Given the description of an element on the screen output the (x, y) to click on. 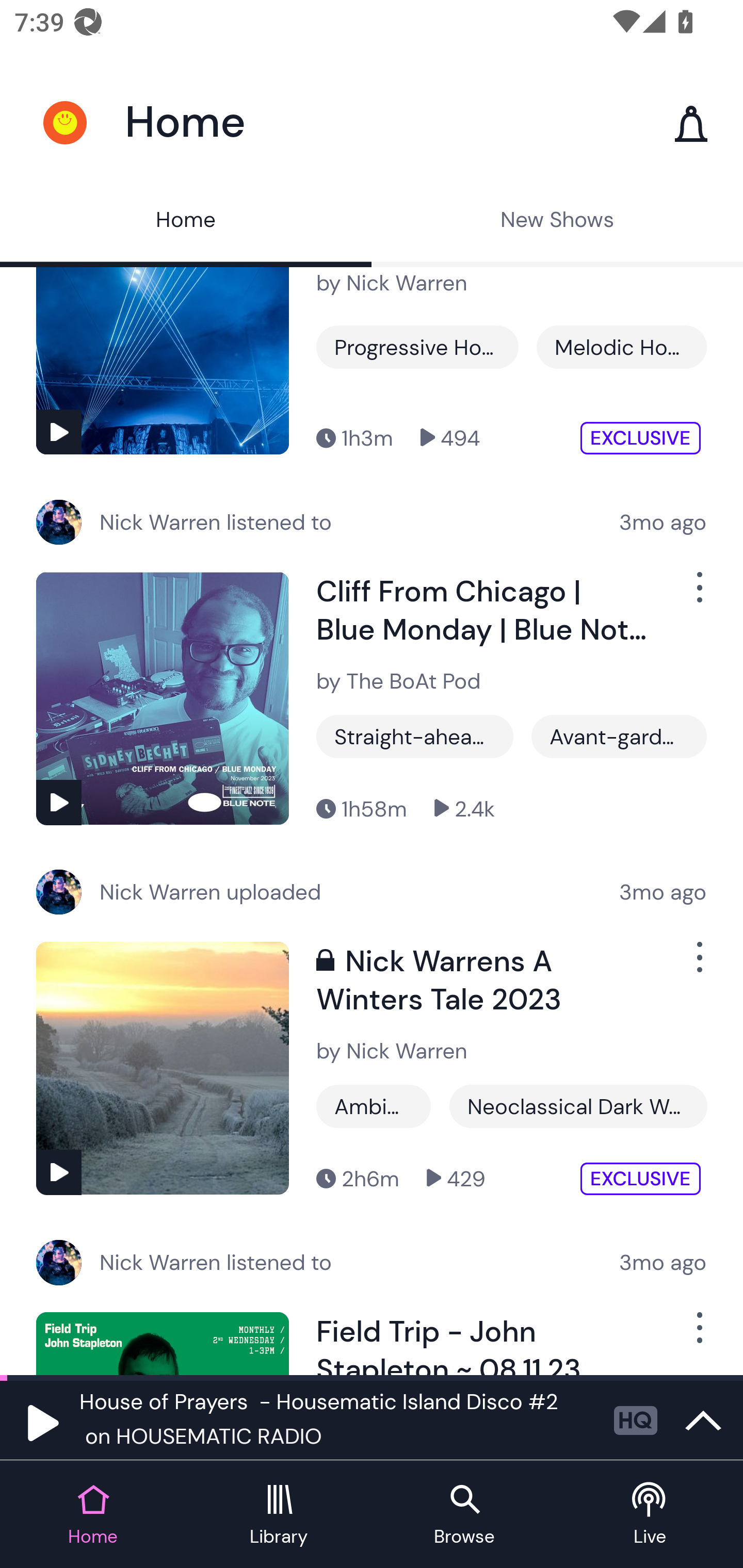
Home (185, 221)
New Shows (557, 221)
Progressive House (417, 347)
Melodic House (621, 347)
Show Options Menu Button (697, 595)
Straight-ahead Jazz (414, 736)
Avant-garde Jazz (618, 736)
Show Options Menu Button (697, 965)
Ambient (373, 1106)
Neoclassical Dark Wave (577, 1106)
Show Options Menu Button (697, 1335)
Home tab Home (92, 1515)
Library tab Library (278, 1515)
Browse tab Browse (464, 1515)
Live tab Live (650, 1515)
